Given the description of an element on the screen output the (x, y) to click on. 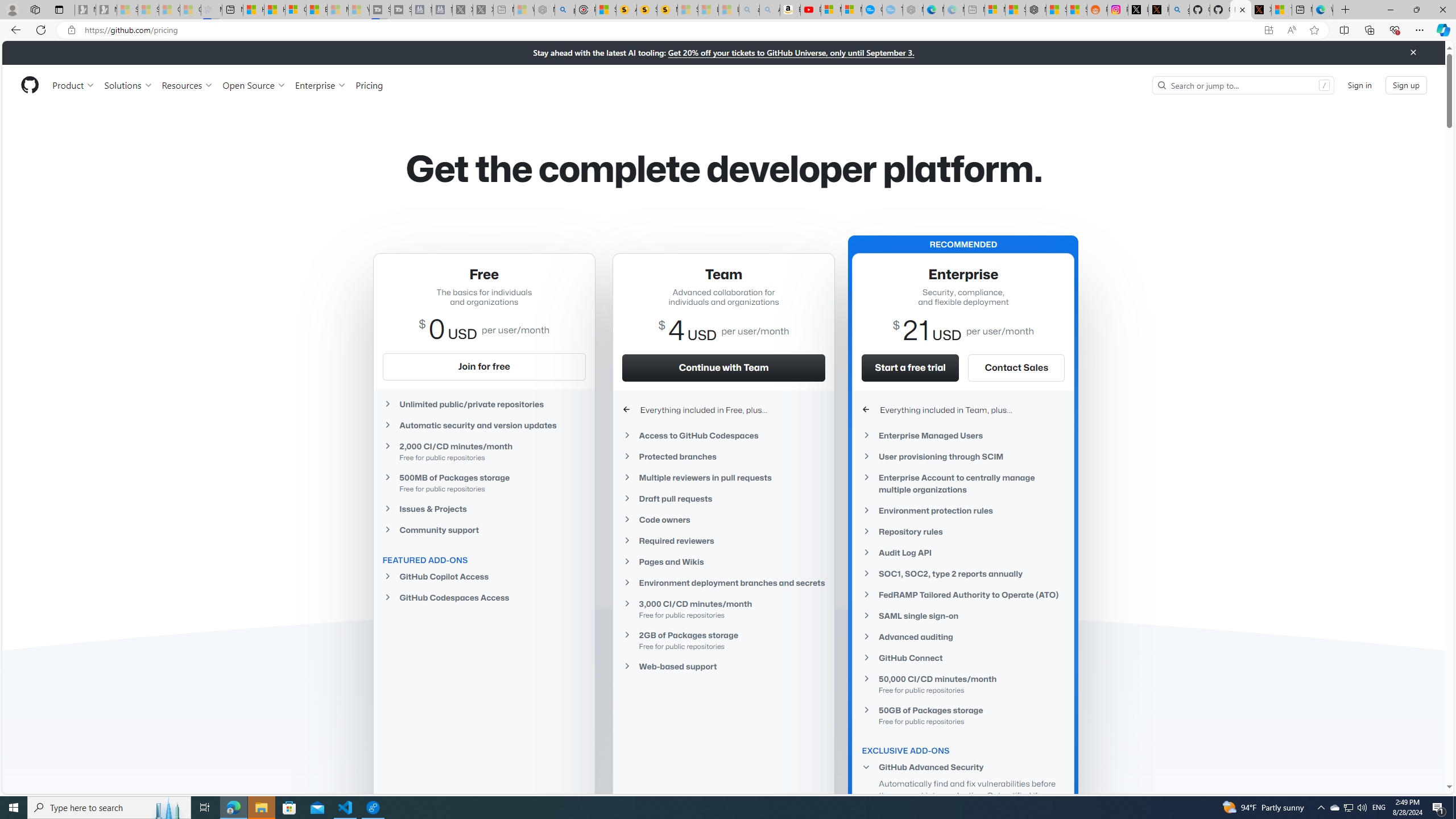
Log in to X / X (1137, 9)
Enterprise (319, 84)
Web-based support (723, 666)
Environment deployment branches and secrets (723, 582)
Solutions (128, 84)
Advanced auditing (963, 636)
help.x.com | 524: A timeout occurred (1158, 9)
500MB of Packages storageFree for public repositories (483, 482)
FedRAMP Tailored Authority to Operate (ATO) (963, 594)
50GB of Packages storageFree for public repositories (963, 714)
Unlimited public/private repositories (483, 404)
